Given the description of an element on the screen output the (x, y) to click on. 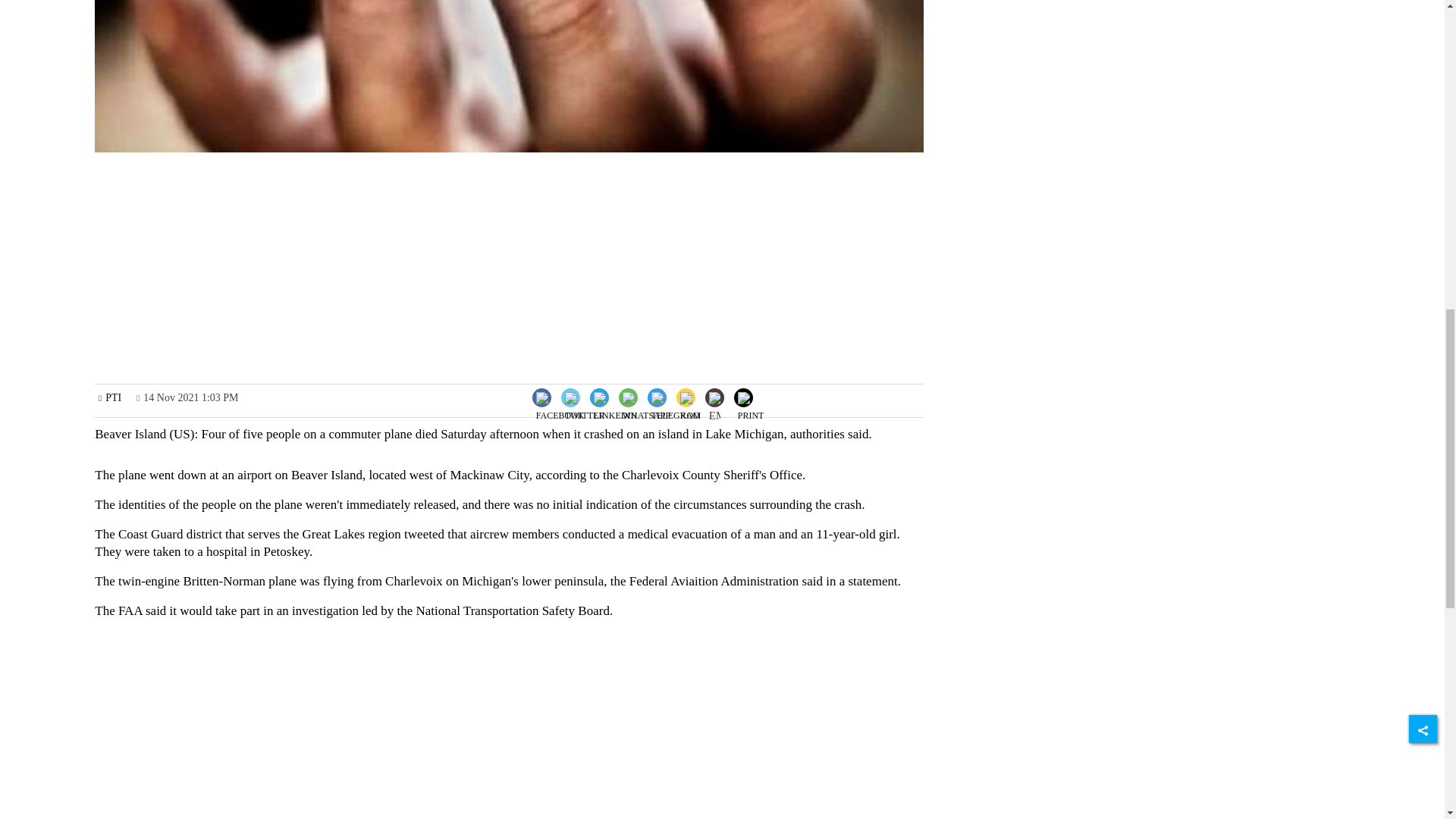
Share by Email (713, 399)
Print (750, 396)
whatsapp (646, 409)
linkedin (615, 409)
telegram (675, 409)
Facebook (560, 396)
facebook (560, 409)
Twitter (584, 396)
LinkedIn (614, 396)
4 people killed in plane crash on Michigans Beaver Island (508, 76)
twitter (584, 409)
